Given the description of an element on the screen output the (x, y) to click on. 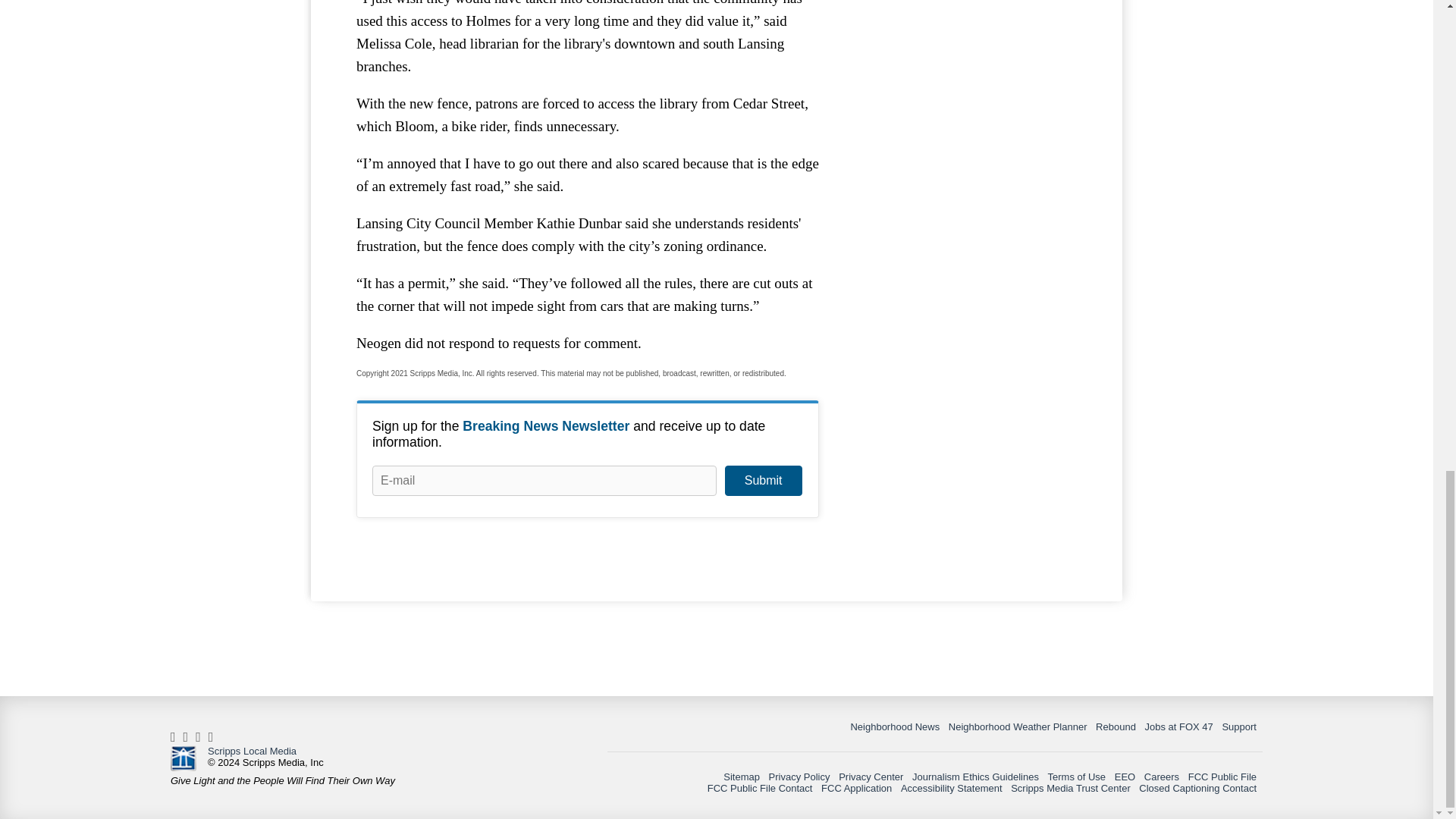
Submit (763, 481)
